Given the description of an element on the screen output the (x, y) to click on. 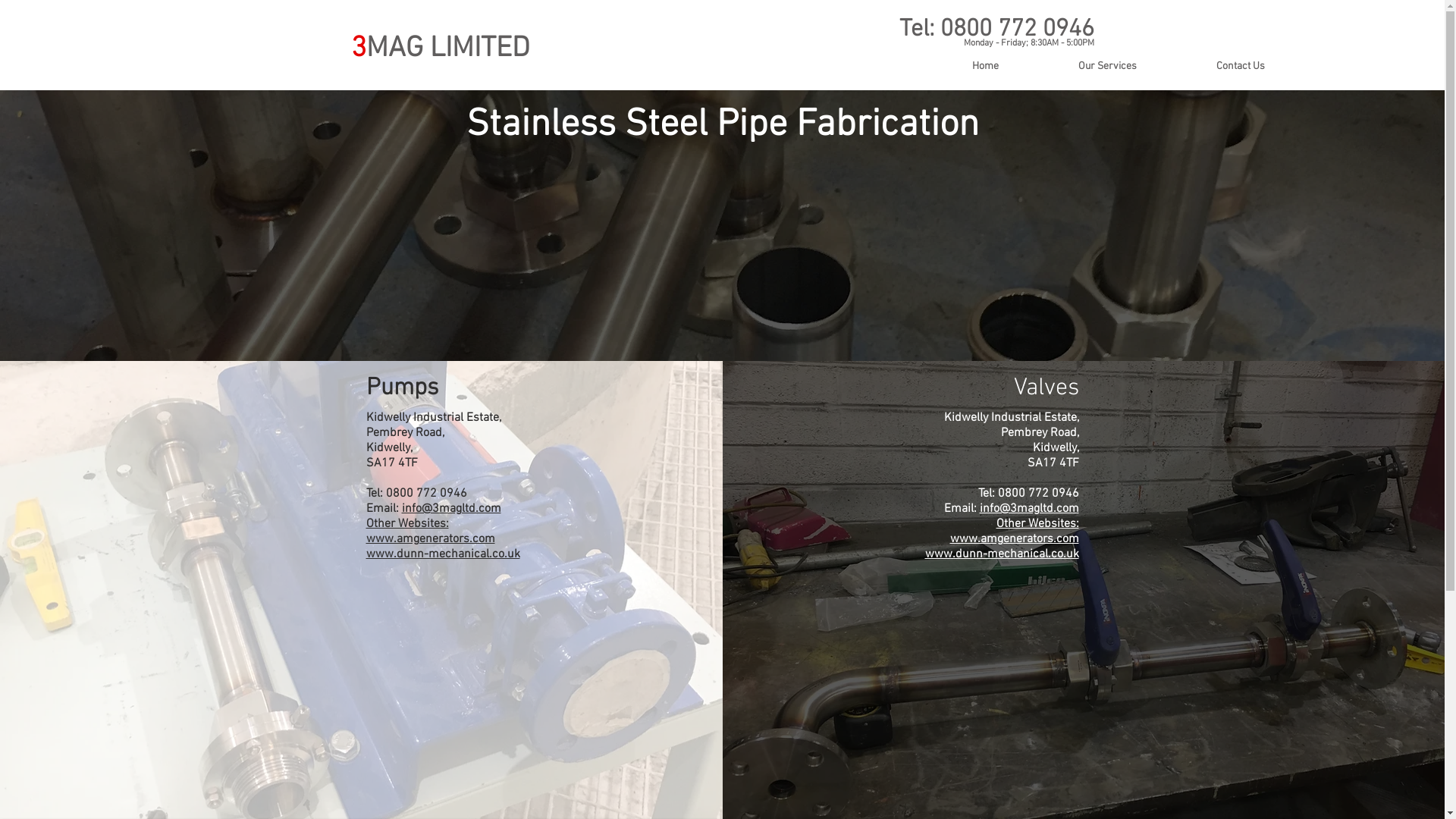
www.dunn-mechanical.co.uk Element type: text (1002, 553)
www.dunn-mechanical.co.uk Element type: text (442, 553)
Home Element type: text (985, 65)
www.amgenerators.com Element type: text (429, 538)
Embedded Content Element type: hover (1157, 38)
info@3magltd.com Element type: text (1029, 508)
info@3magltd.com Element type: text (451, 508)
www.amgenerators.com Element type: text (1013, 538)
Contact Us Element type: text (1240, 65)
